Given the description of an element on the screen output the (x, y) to click on. 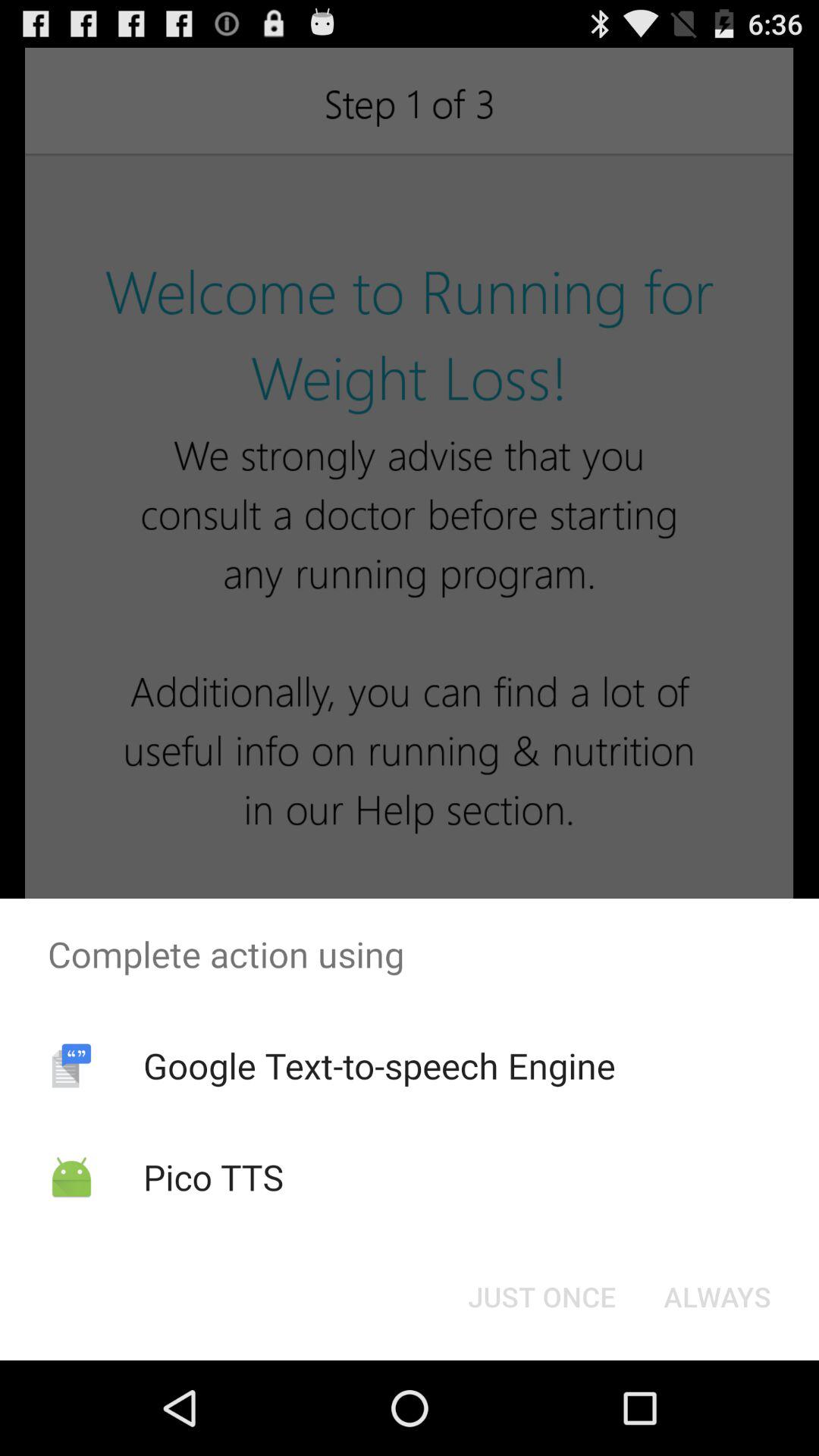
select the just once icon (541, 1296)
